Given the description of an element on the screen output the (x, y) to click on. 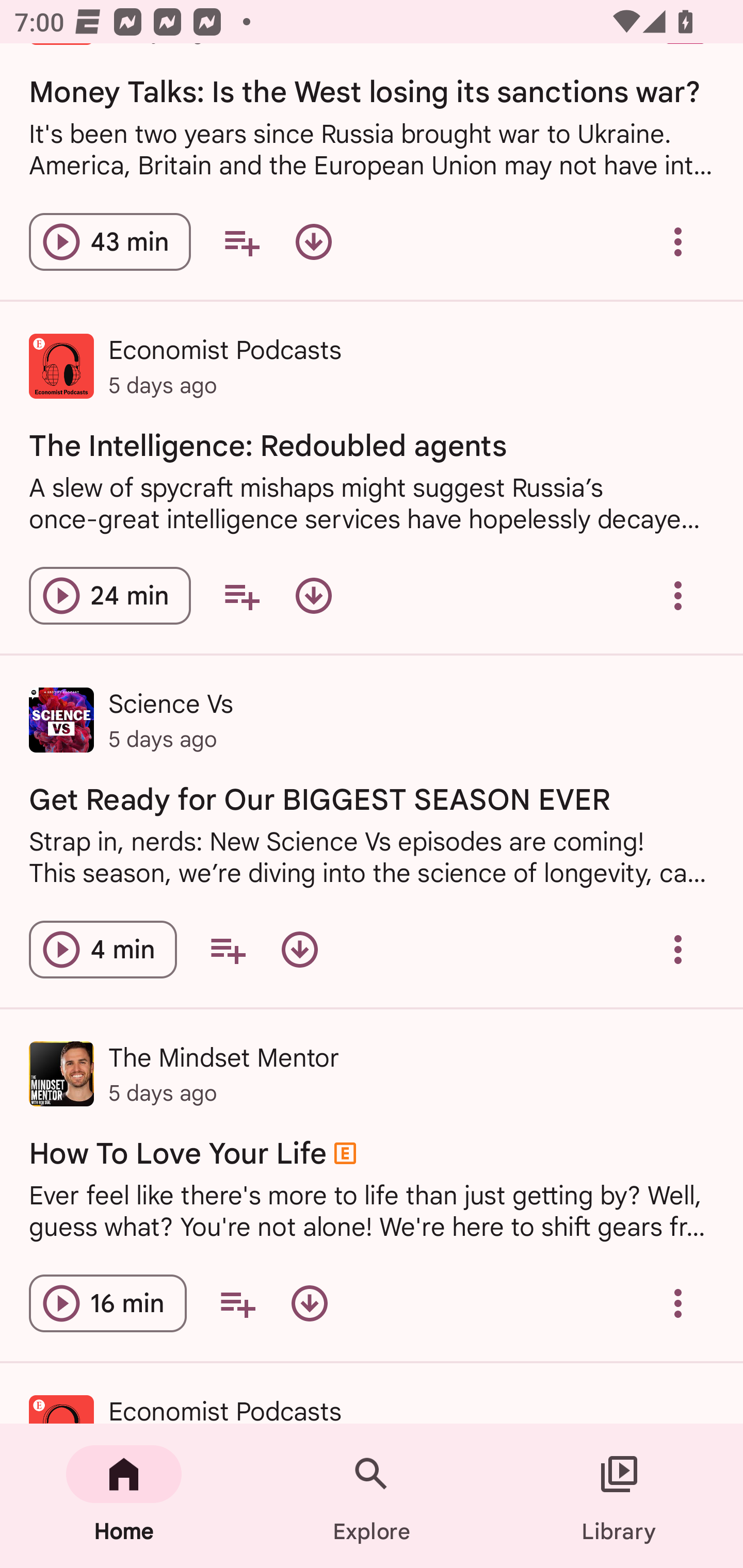
Add to your queue (241, 242)
Download episode (313, 242)
Overflow menu (677, 242)
Add to your queue (241, 595)
Download episode (313, 595)
Overflow menu (677, 595)
Add to your queue (227, 949)
Download episode (299, 949)
Overflow menu (677, 949)
Play episode How To Love Your Life 16 min (107, 1303)
Add to your queue (237, 1303)
Download episode (309, 1303)
Overflow menu (677, 1303)
Explore (371, 1495)
Library (619, 1495)
